Given the description of an element on the screen output the (x, y) to click on. 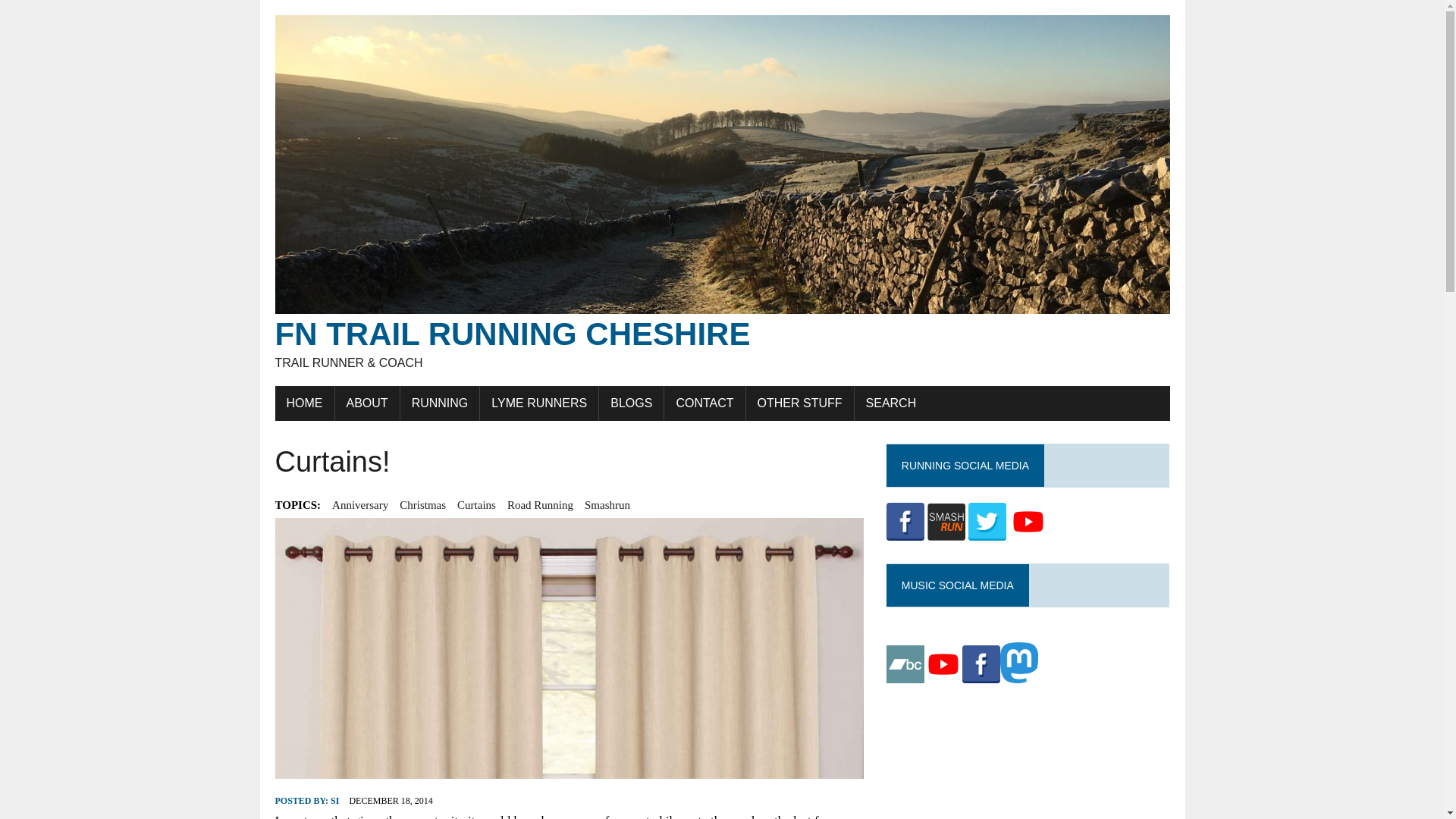
HOME (304, 402)
Facebook (905, 521)
RUNNING (440, 402)
FNTRC YouTube (1027, 521)
ABOUT (366, 402)
Facebook (981, 664)
No Emis YouTube (943, 664)
No Emis music channel (905, 664)
Mastodon (1019, 662)
Twitter (987, 521)
Smashrun (946, 521)
